Given the description of an element on the screen output the (x, y) to click on. 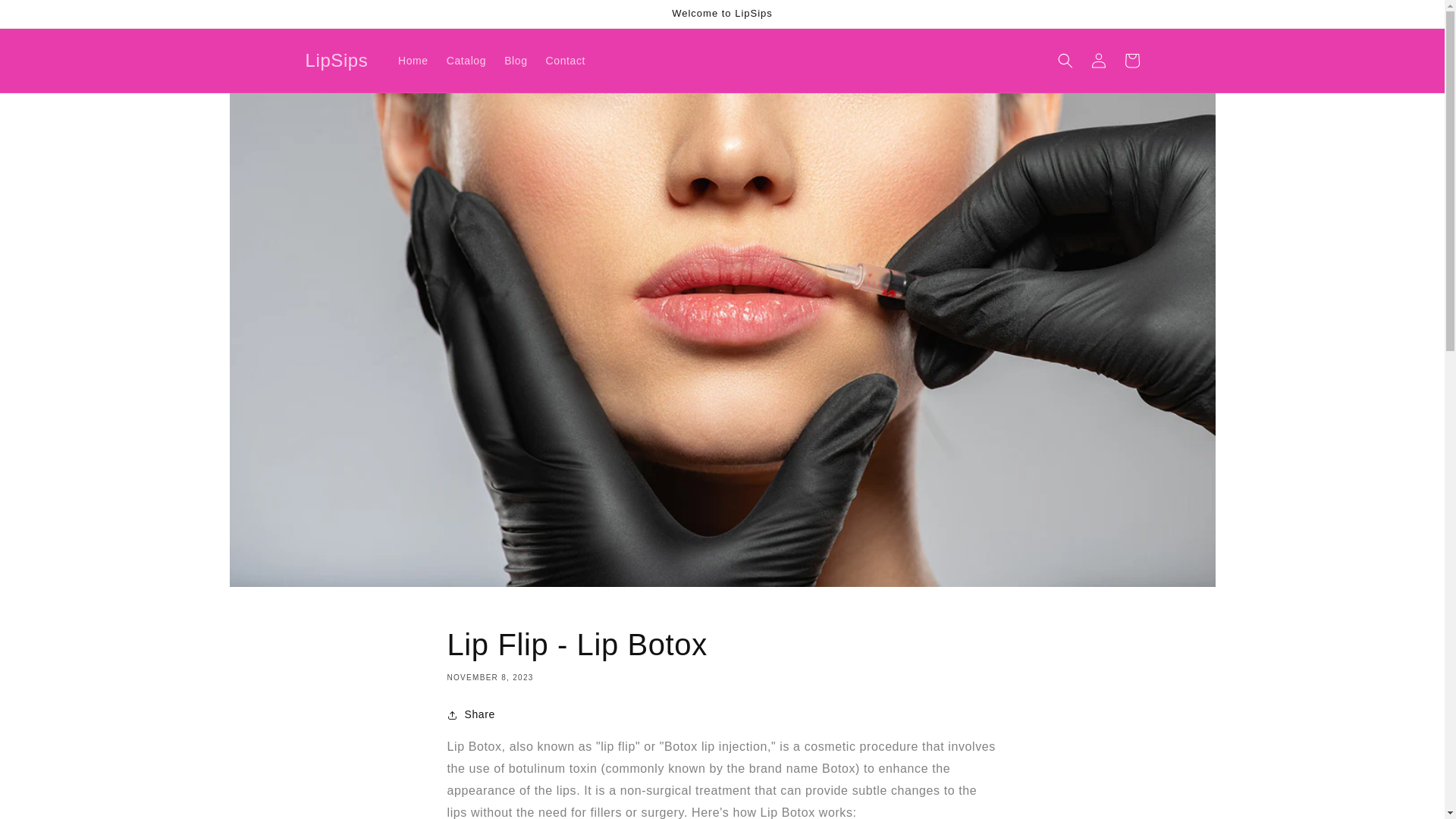
Cart (1131, 60)
Log in (1098, 60)
Blog (515, 60)
Skip to content (45, 17)
LipSips (336, 60)
Home (413, 60)
Catalog (466, 60)
Contact (565, 60)
